Given the description of an element on the screen output the (x, y) to click on. 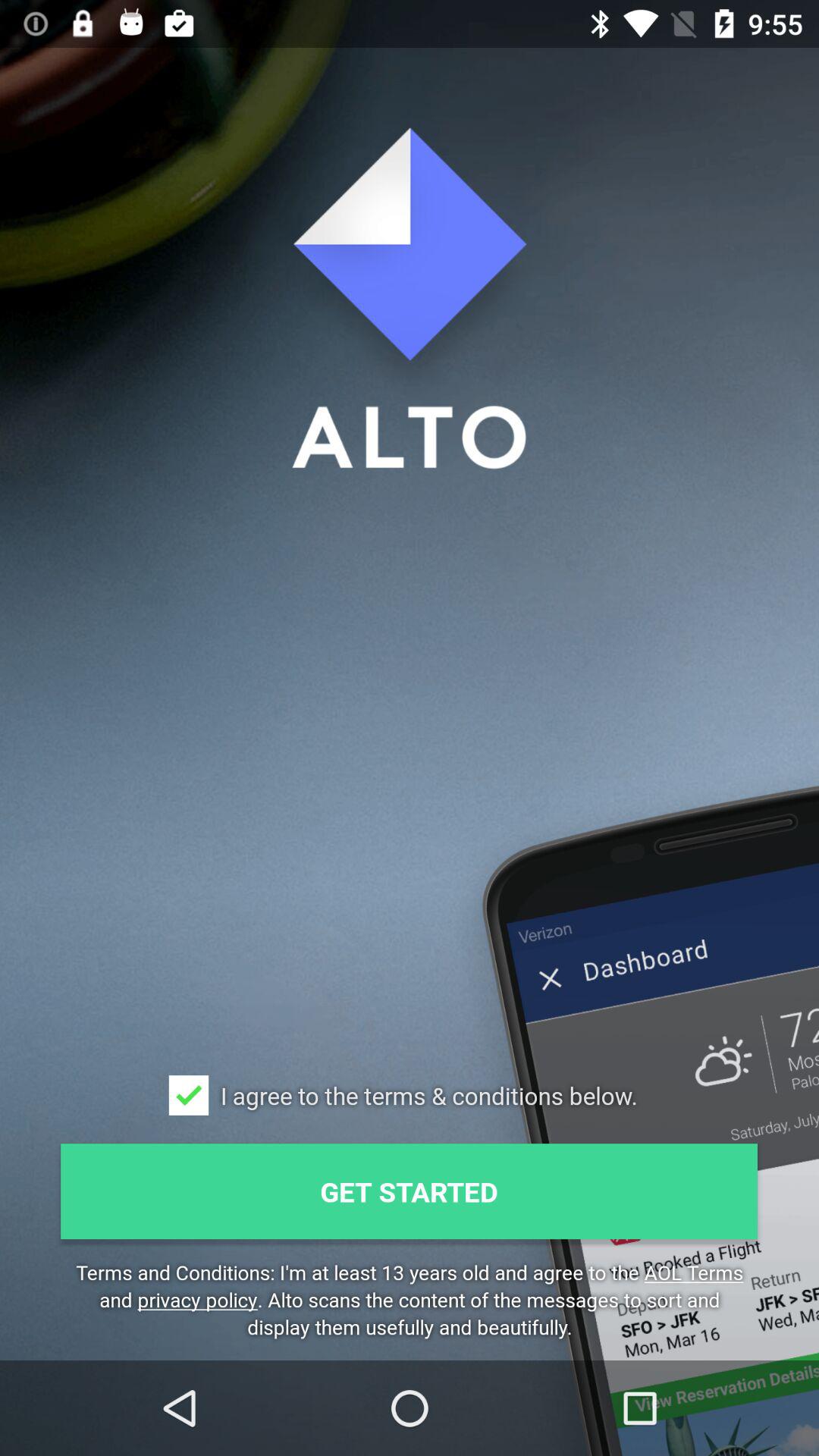
turn on icon next to i agree to (188, 1095)
